Given the description of an element on the screen output the (x, y) to click on. 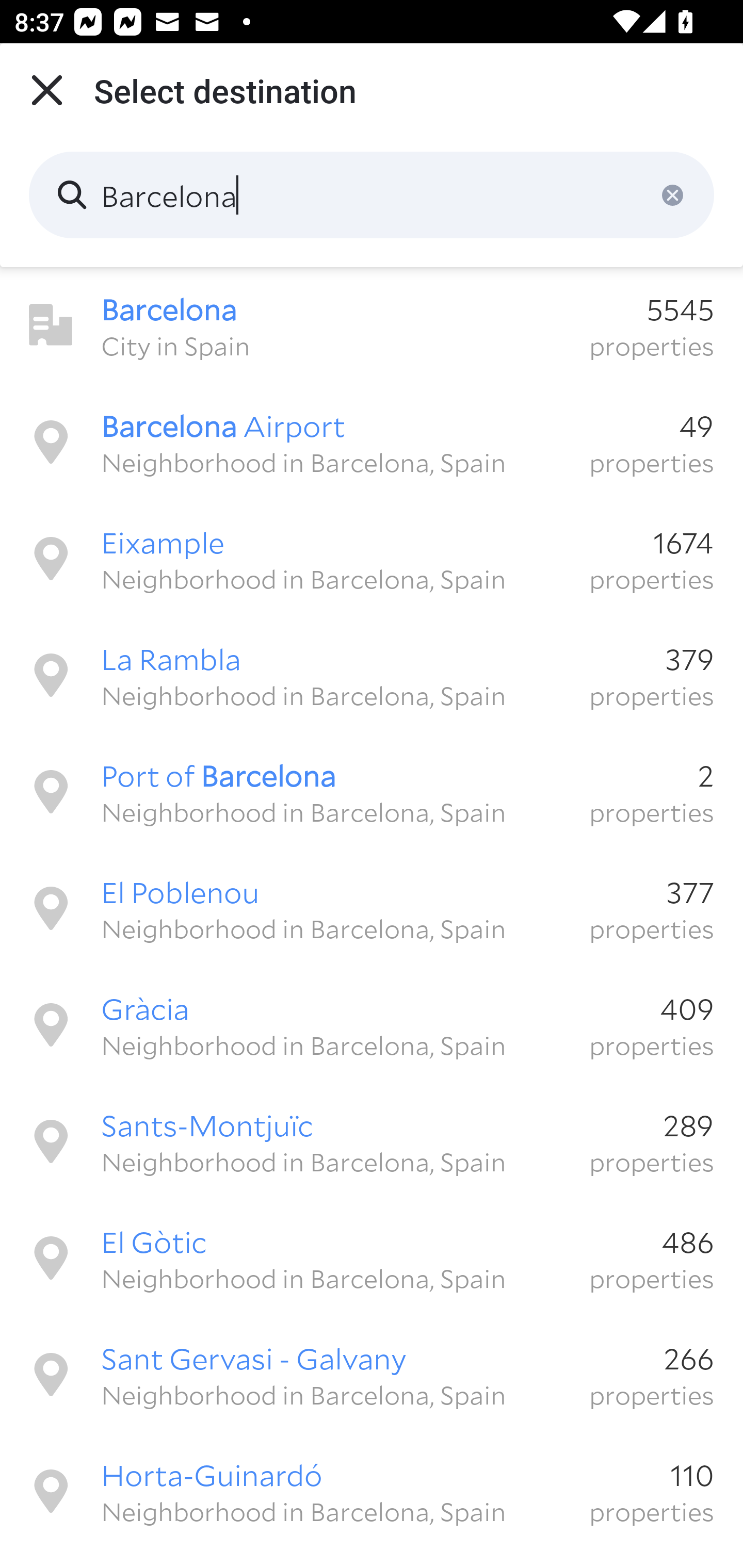
Barcelona (371, 195)
Barcelona 5545 City in Spain properties (371, 325)
